Given the description of an element on the screen output the (x, y) to click on. 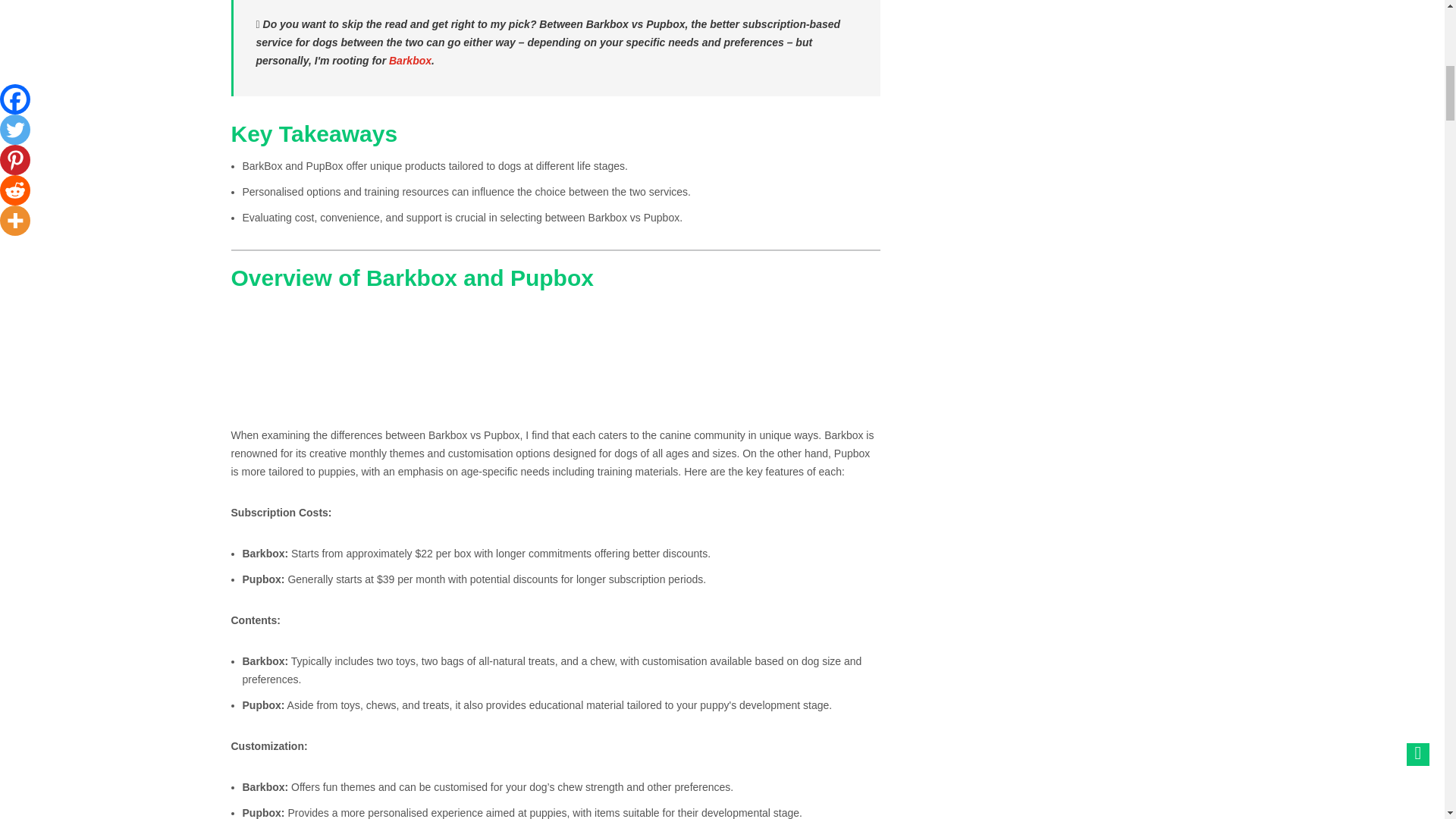
v2 8ftoj 320p9 (344, 357)
Barkbox (409, 60)
